Given the description of an element on the screen output the (x, y) to click on. 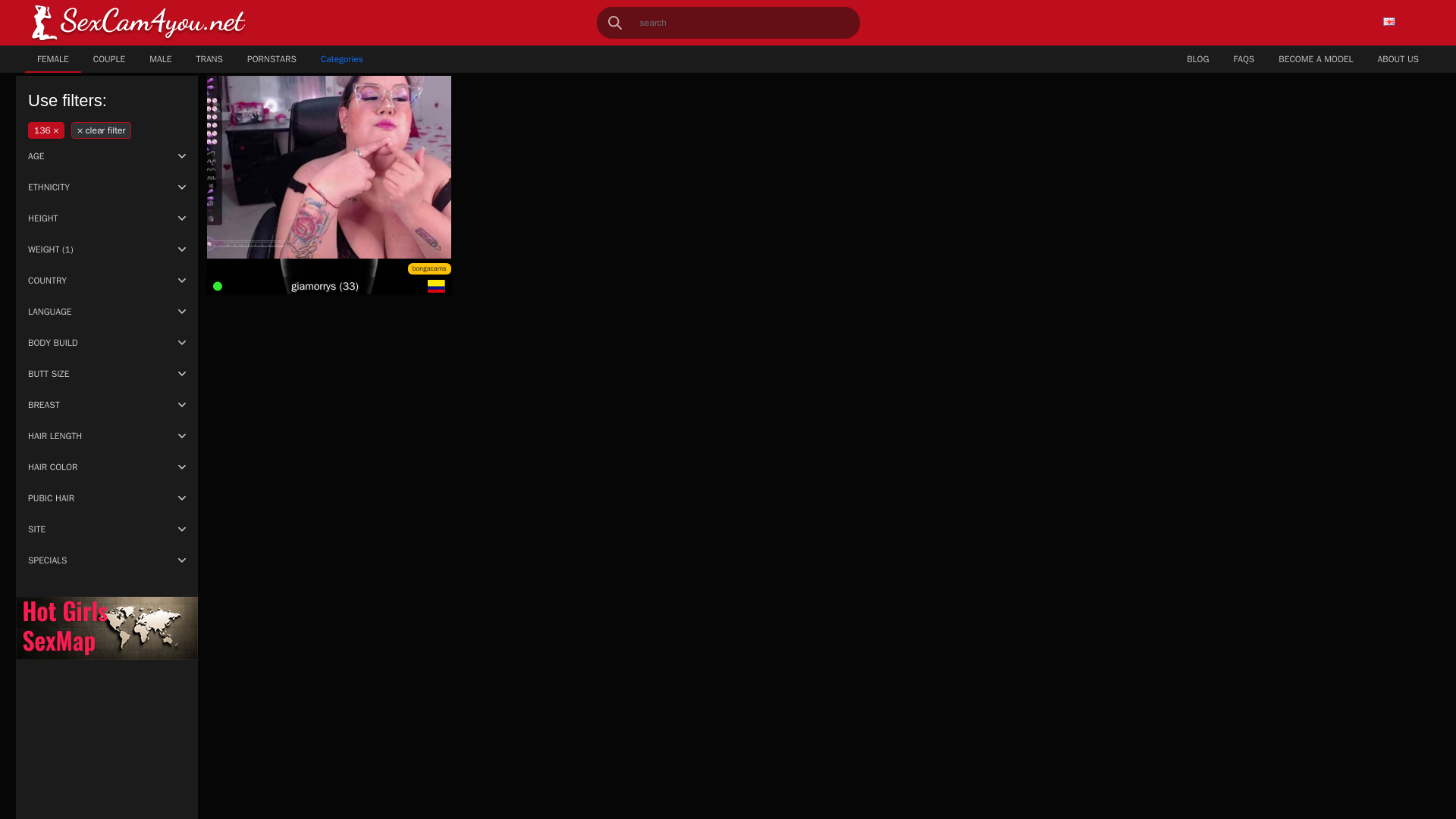
SexCam4you.net (137, 22)
English (1388, 21)
English (1407, 22)
